Given the description of an element on the screen output the (x, y) to click on. 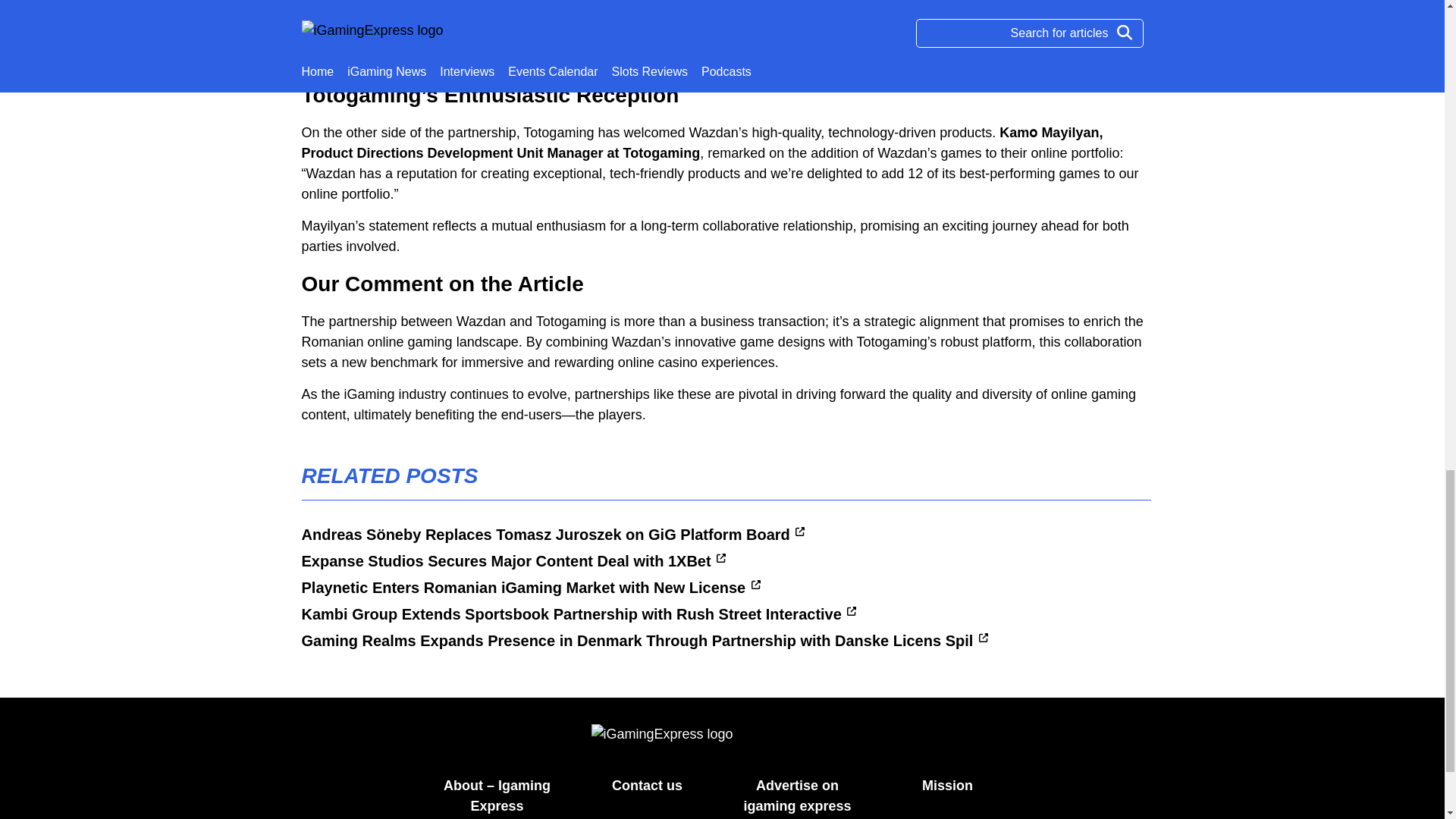
Expanse Studios Secures Major Content Deal with 1XBet (513, 560)
Playnetic Enters Romanian iGaming Market with New License (530, 587)
